Given the description of an element on the screen output the (x, y) to click on. 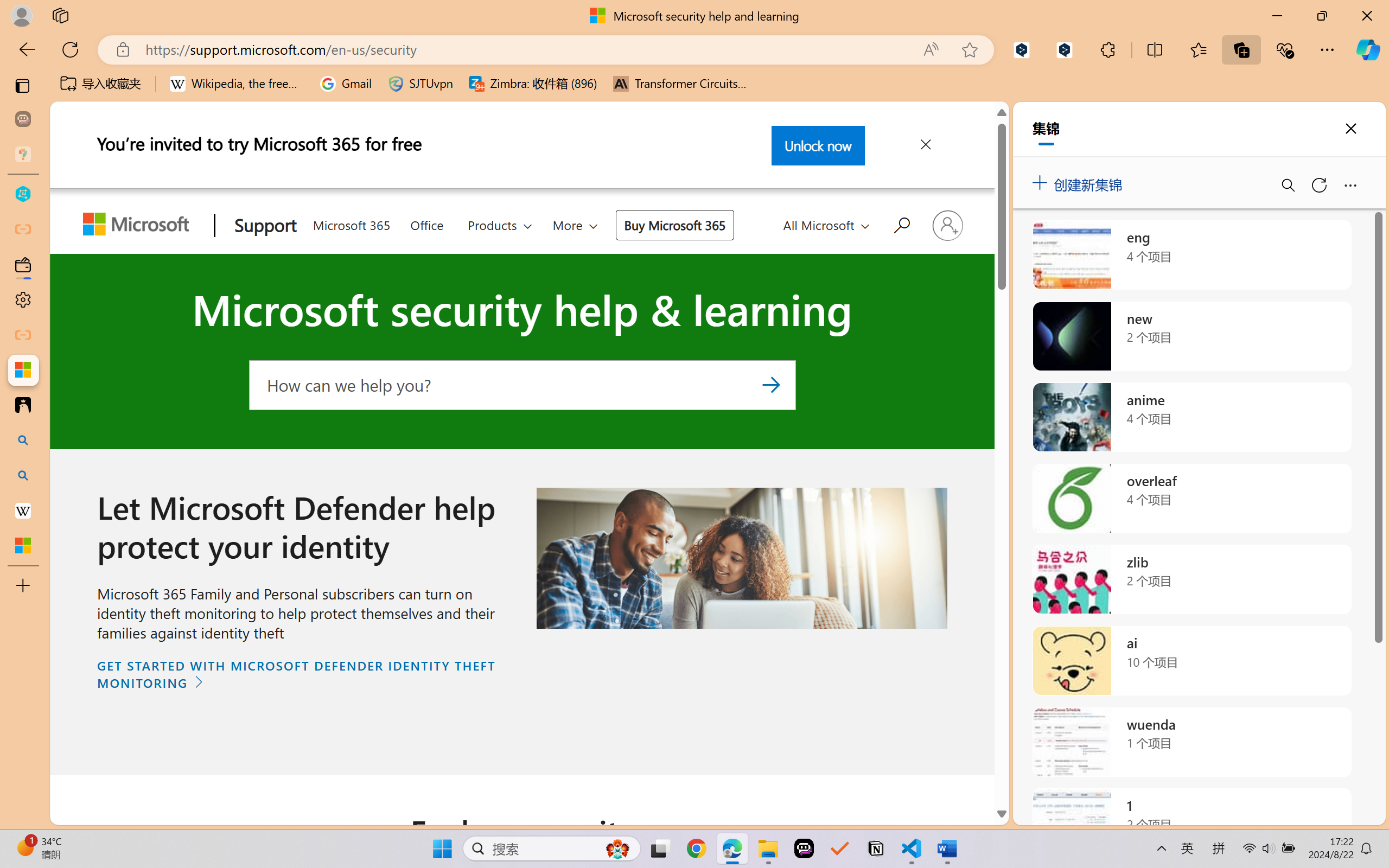
Microsoft security help and learning (22, 369)
Sign in to your account (946, 225)
Microsoft (139, 225)
Wikipedia, the free encyclopedia (236, 83)
